Given the description of an element on the screen output the (x, y) to click on. 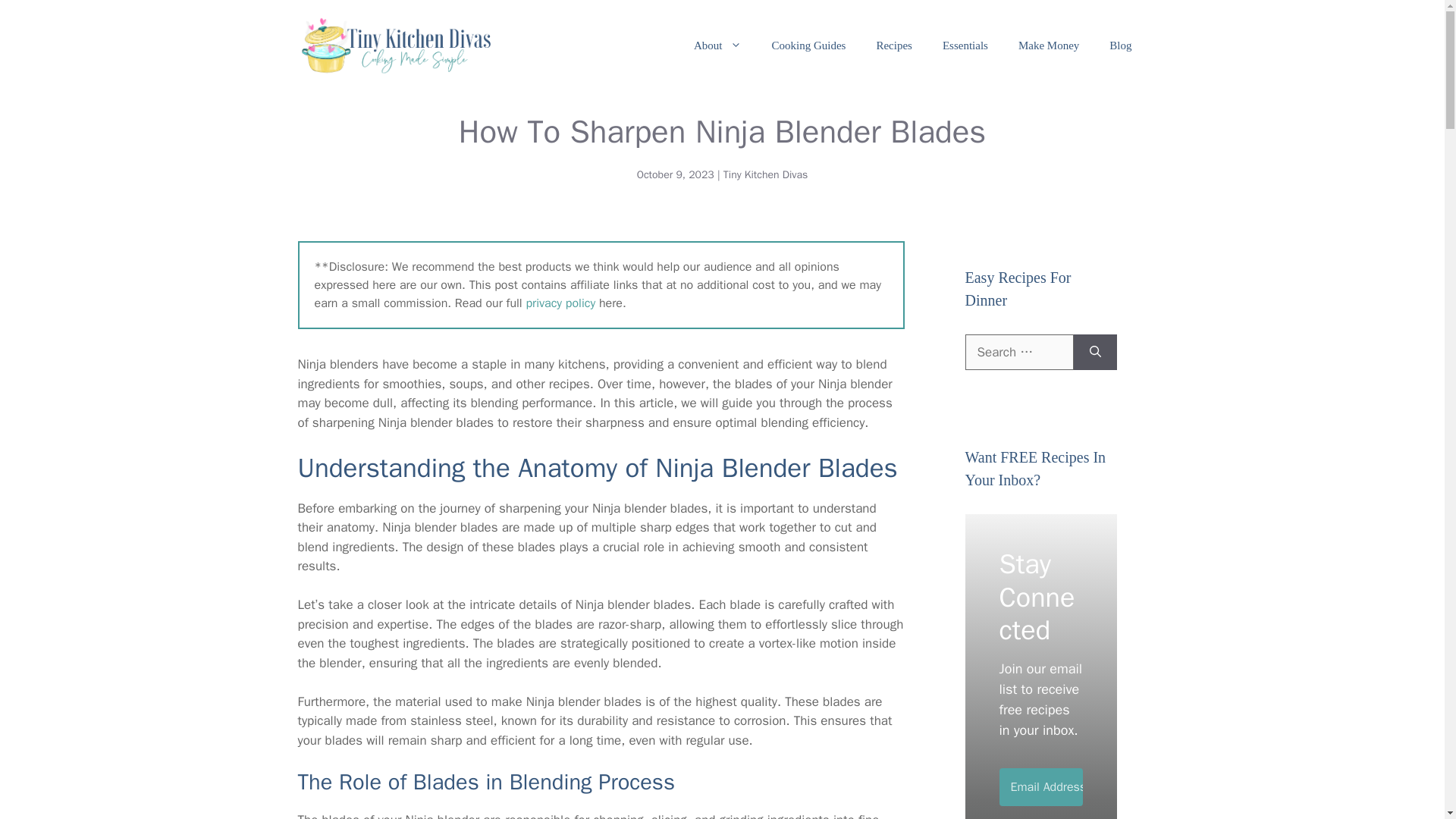
Search for: (1018, 352)
Recipes (893, 44)
privacy policy (560, 303)
Cooking Guides (809, 44)
Make Money (1048, 44)
Essentials (965, 44)
About (717, 44)
Tiny Kitchen Divas (765, 174)
View all posts by Tiny Kitchen Divas (765, 174)
Blog (1120, 44)
